Given the description of an element on the screen output the (x, y) to click on. 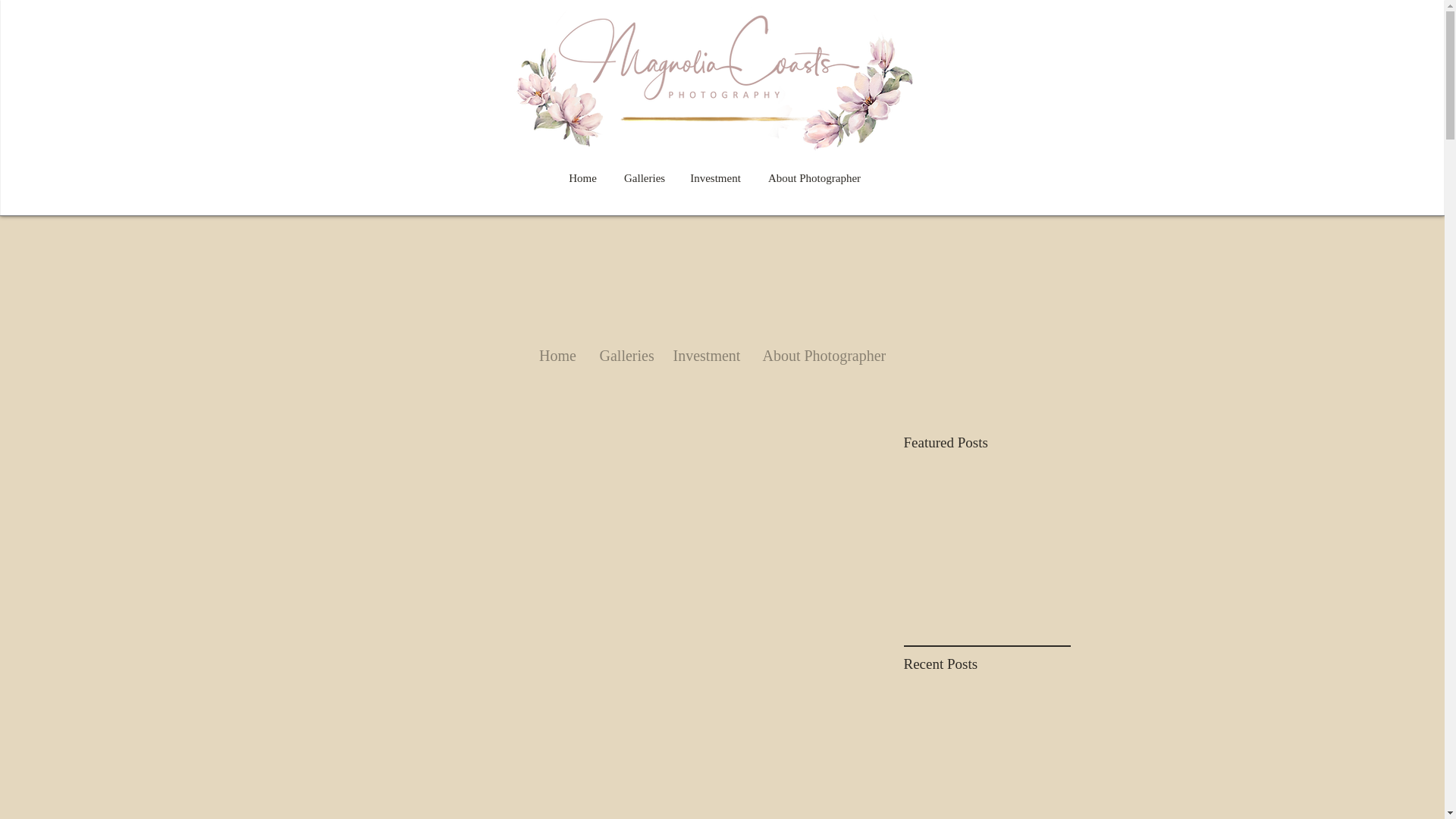
Home (582, 171)
About Photographer (813, 171)
About Photographer (823, 355)
Home (557, 355)
